Given the description of an element on the screen output the (x, y) to click on. 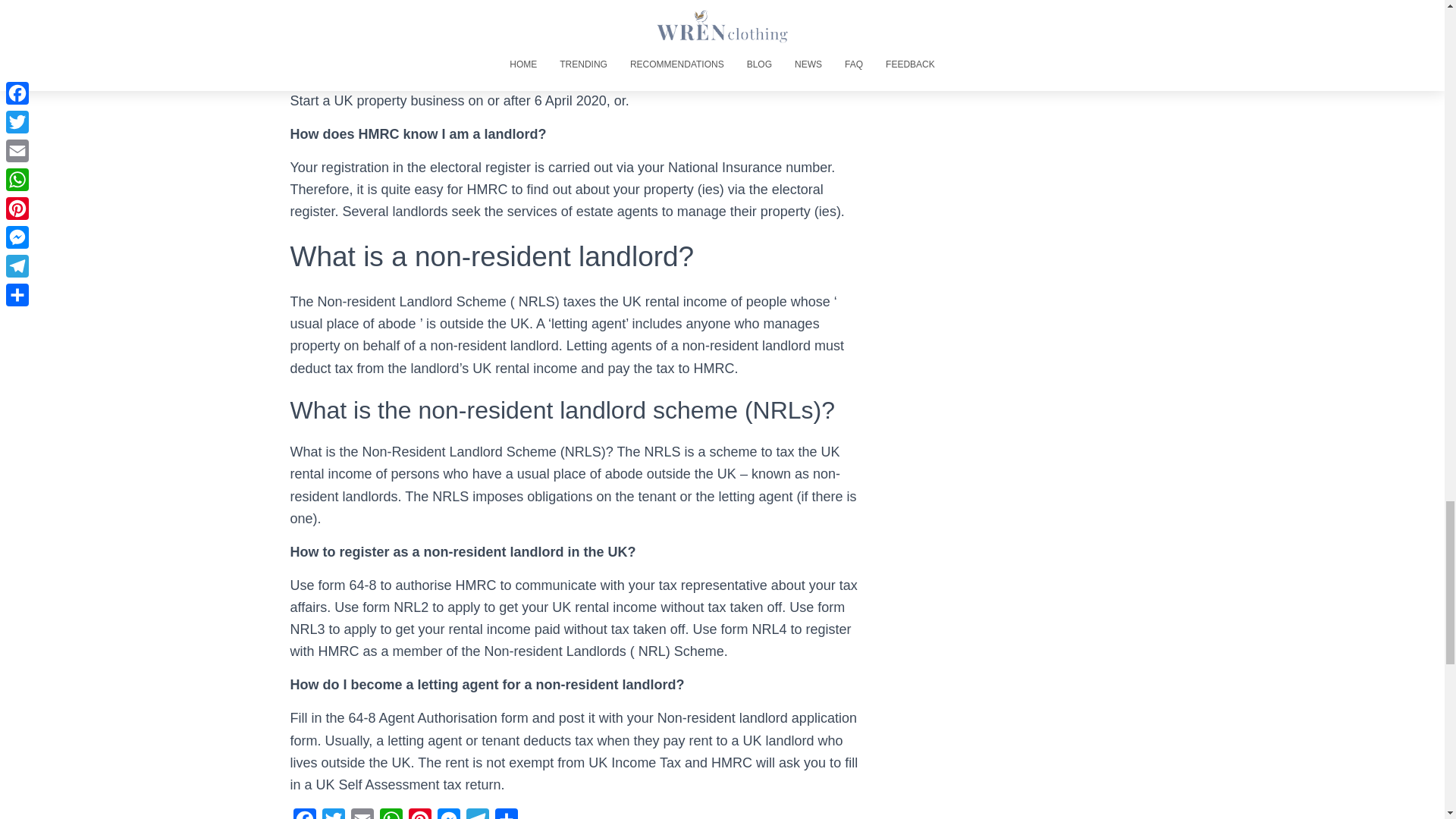
Messenger (448, 813)
Twitter (332, 813)
Facebook (303, 813)
WhatsApp (389, 813)
Facebook (303, 813)
Twitter (332, 813)
Pinterest (418, 813)
Telegram (477, 813)
Email (361, 813)
